Given the description of an element on the screen output the (x, y) to click on. 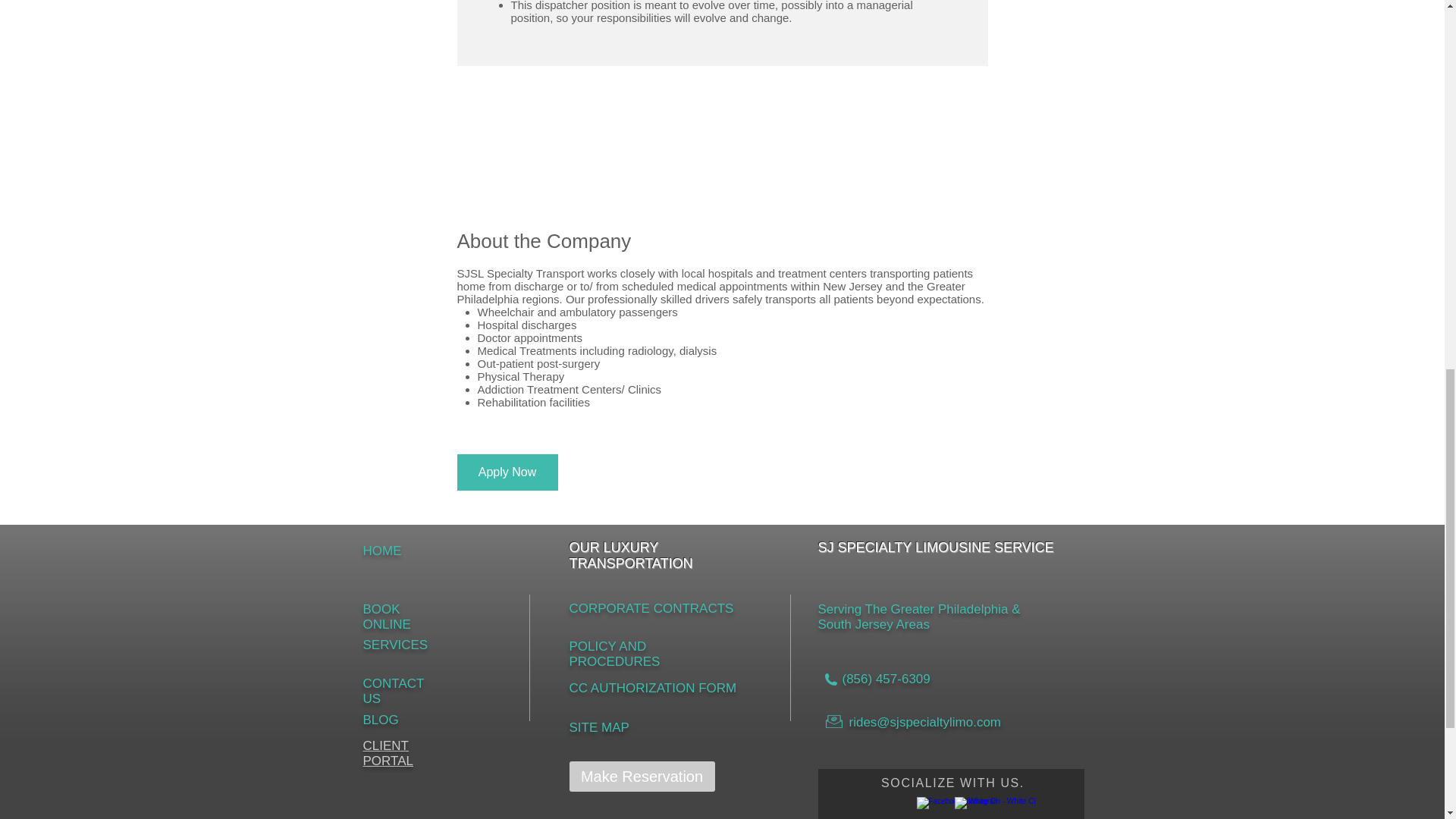
POLICY AND PROCEDURES (614, 654)
Make Reservation (641, 776)
CC AUTHORIZATION FORM (652, 687)
SITE MAP (598, 727)
CLIENT PORTAL (387, 753)
SERVICES (395, 644)
CORPORATE CONTRACTS (651, 608)
BOOK ONLINE (386, 616)
BLOG (379, 719)
Apply Now (507, 472)
CONTACT US (392, 690)
